Given the description of an element on the screen output the (x, y) to click on. 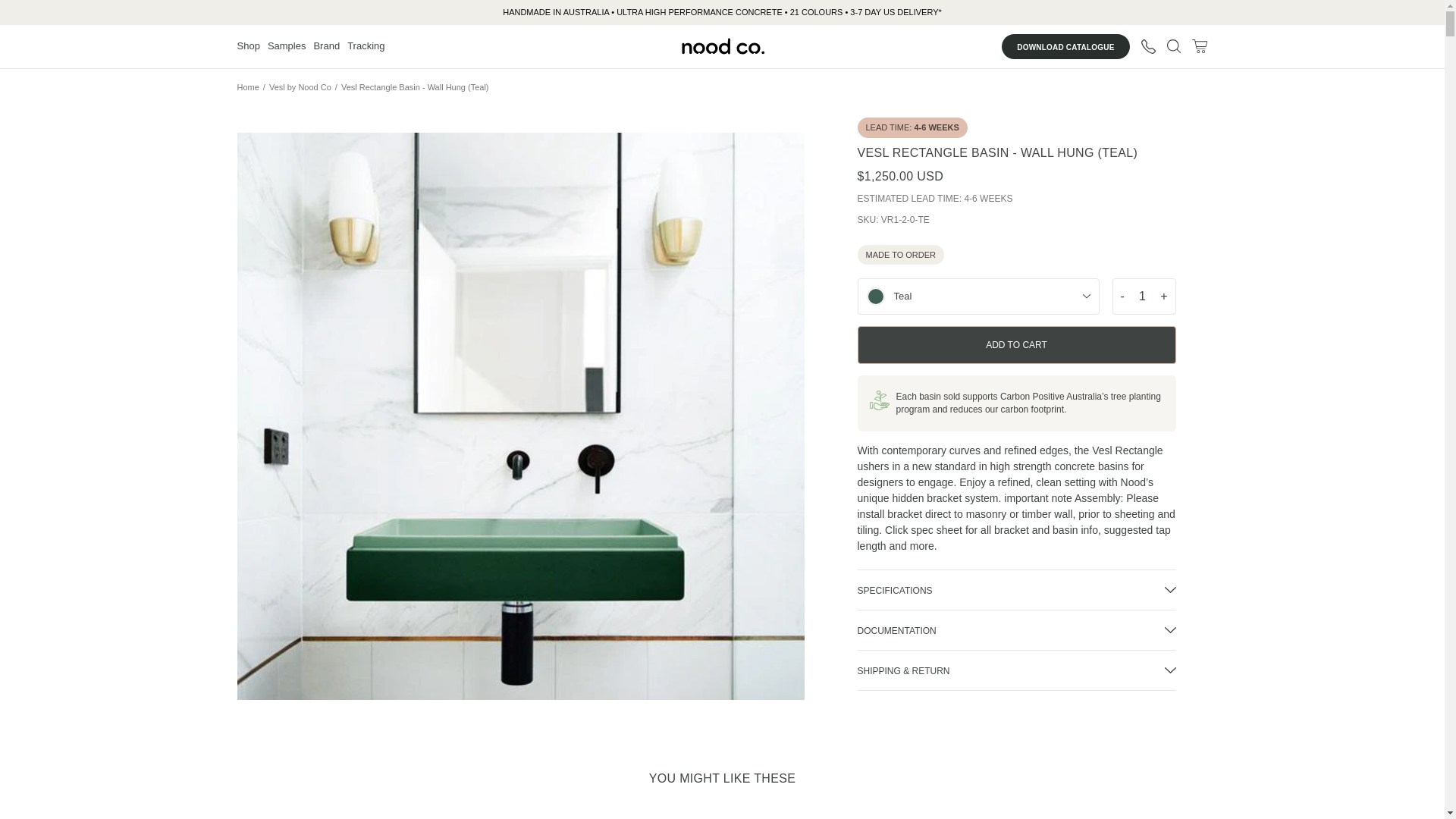
Brand (326, 46)
Home (247, 86)
Samples (286, 46)
1 (1142, 296)
Tracking (365, 46)
Shop (247, 46)
